Given the description of an element on the screen output the (x, y) to click on. 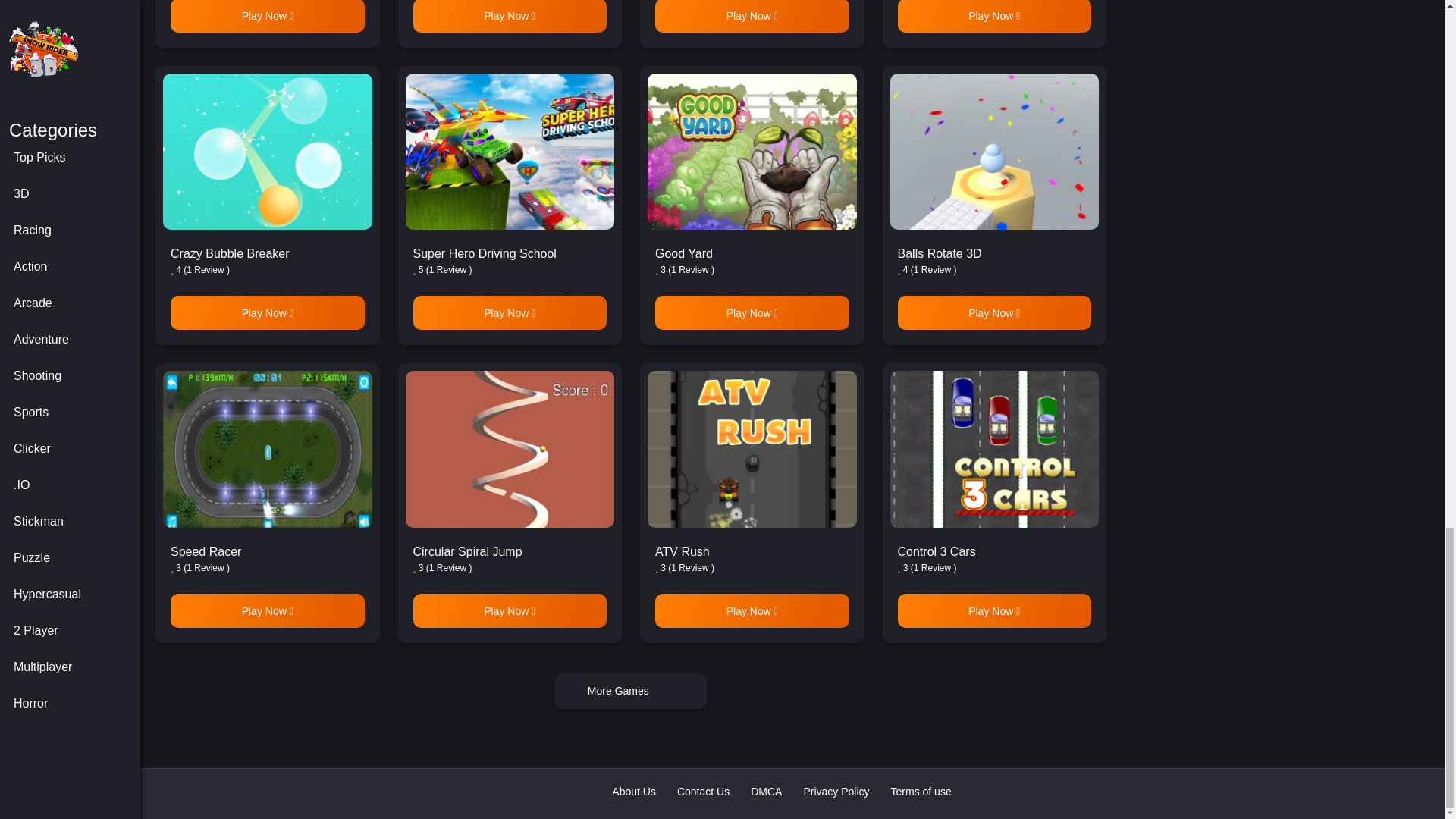
Play Now (267, 16)
Contact Us (703, 791)
Terms of use (921, 791)
About Us (633, 791)
Privacy Policy (836, 791)
DMCA (766, 791)
